Given the description of an element on the screen output the (x, y) to click on. 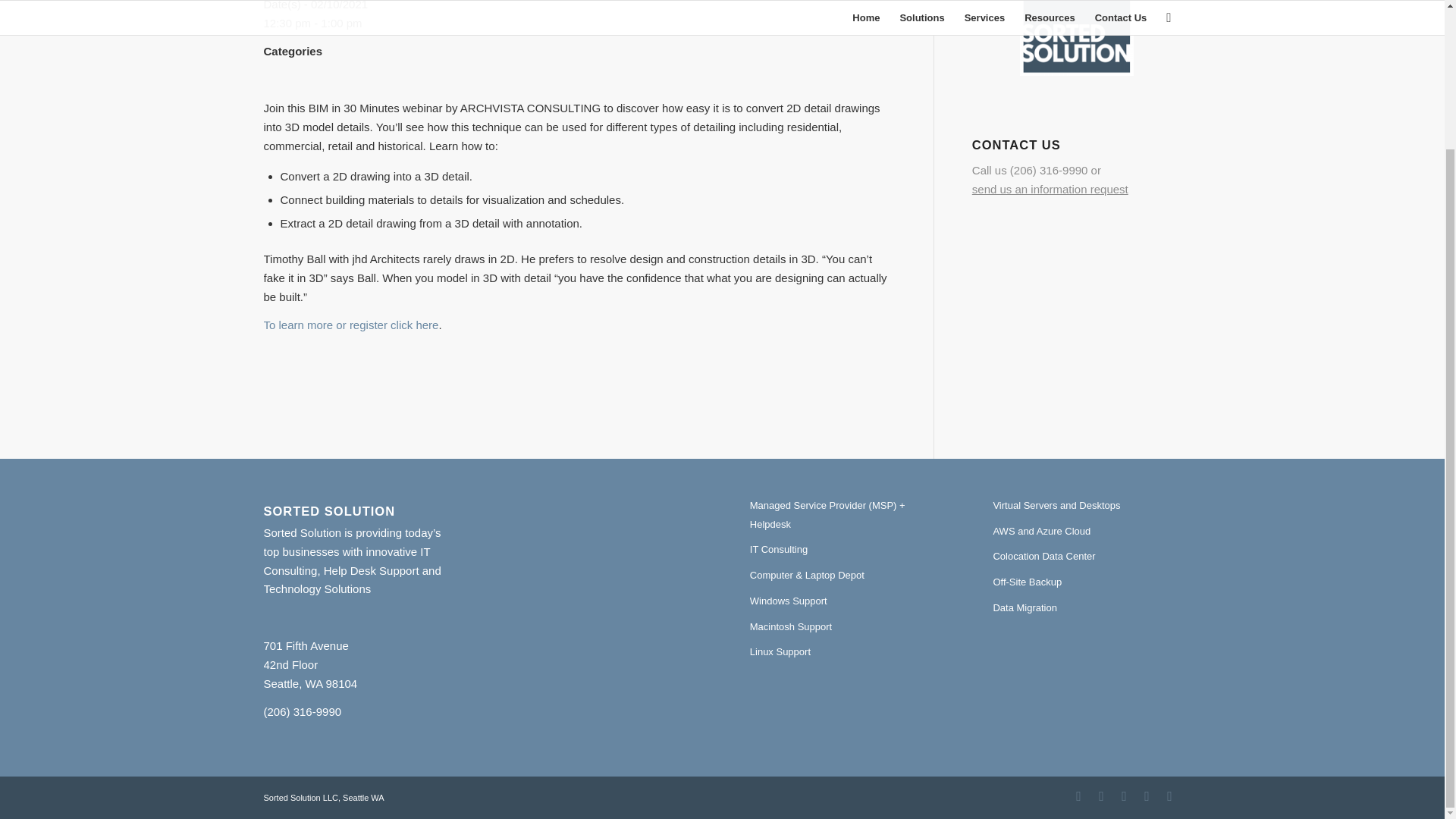
Twitter (1078, 795)
Youtube (1146, 795)
Linkedin (1124, 795)
Instagram (1101, 795)
Mail (1169, 795)
